Given the description of an element on the screen output the (x, y) to click on. 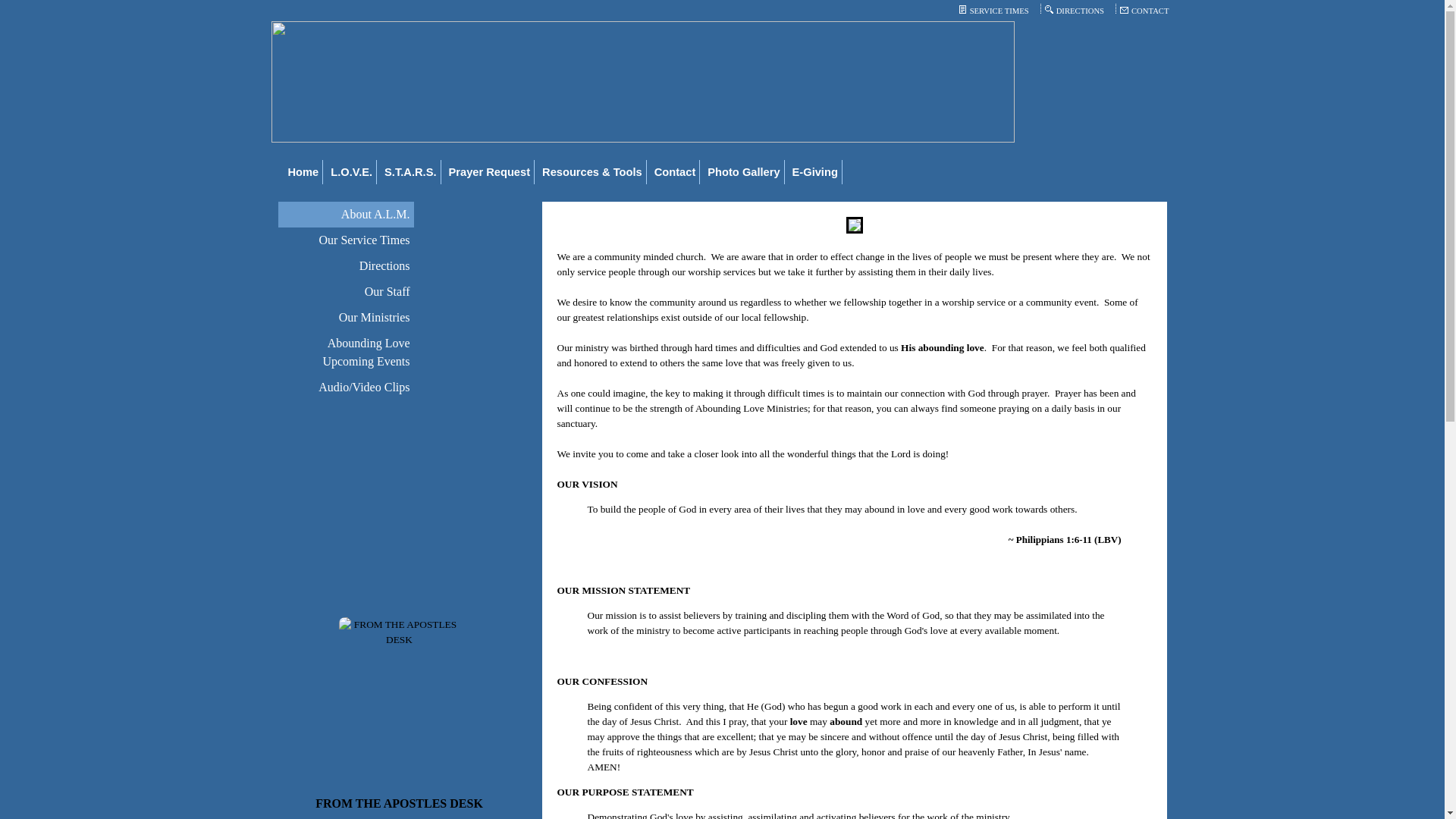
CONTACT (1150, 10)
Abounding Love Upcoming Events (345, 352)
Prayer Request (490, 171)
Contact (675, 171)
Our Ministries (345, 317)
Home (303, 171)
E-Giving (816, 171)
S.T.A.R.S. (410, 171)
DIRECTIONS (1081, 10)
Photo Gallery (743, 171)
